Given the description of an element on the screen output the (x, y) to click on. 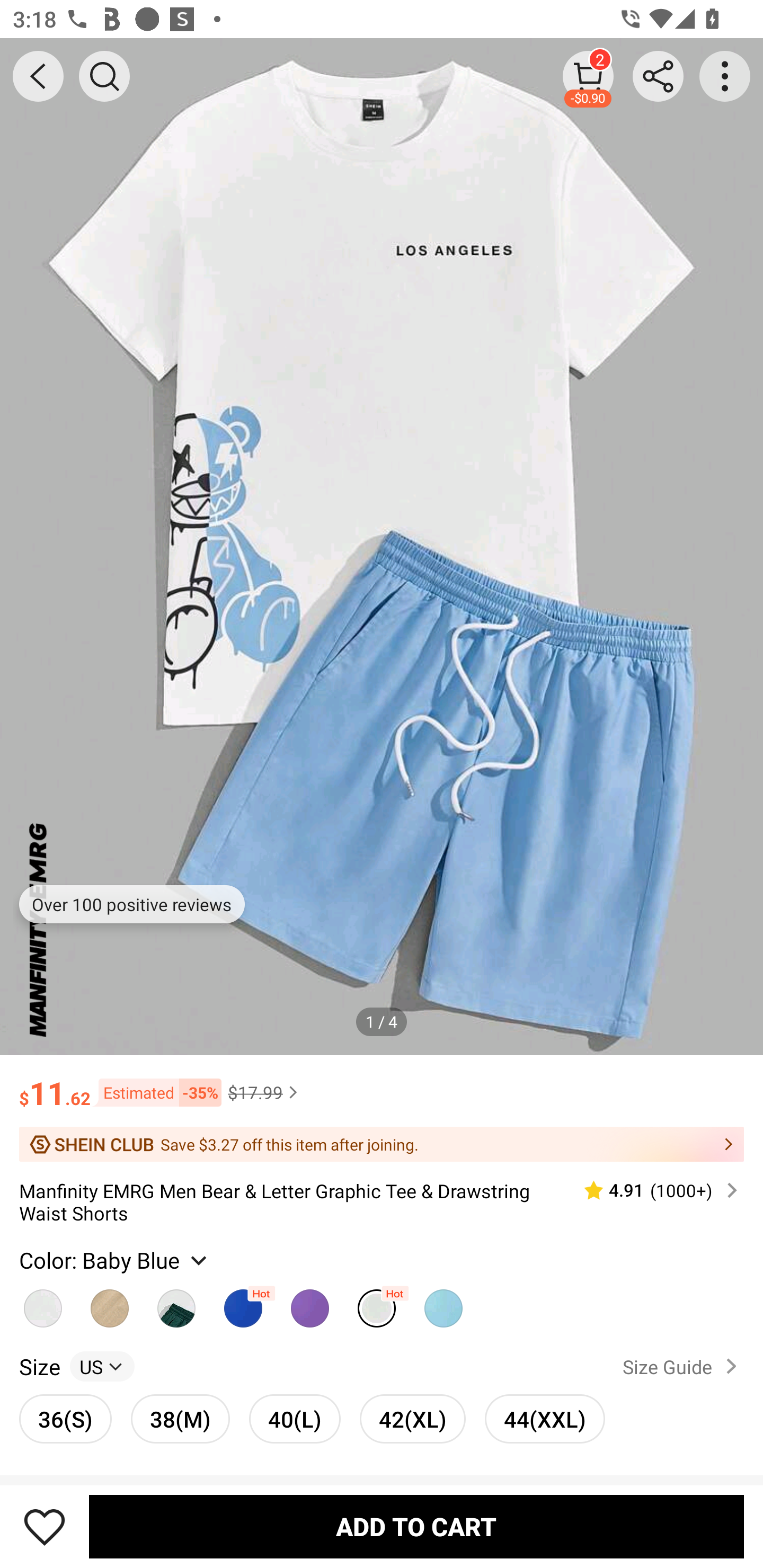
BACK (38, 75)
2 -$0.90 (588, 75)
1 / 4 (381, 1021)
Estimated -35% (155, 1092)
$17.99 (265, 1091)
Save $3.27 off this item after joining. (381, 1144)
4.91 (1000‎+) (653, 1189)
Color: Baby Blue (115, 1259)
Khaki (42, 1303)
Khaki (109, 1303)
Green (176, 1303)
Royal Blue (242, 1303)
Violet Purple (309, 1303)
Baby Blue (376, 1303)
Mint Blue (443, 1303)
Size (39, 1366)
US (102, 1366)
Size Guide (682, 1366)
36(S) 36(S)unselected option (65, 1418)
38(M) 38(M)unselected option (180, 1418)
40(L) 40(L)unselected option (294, 1418)
42(XL) 42(XL)unselected option (412, 1418)
44(XXL) 44(XXL)unselected option (544, 1418)
ADD TO CART (416, 1526)
Save (44, 1526)
